Given the description of an element on the screen output the (x, y) to click on. 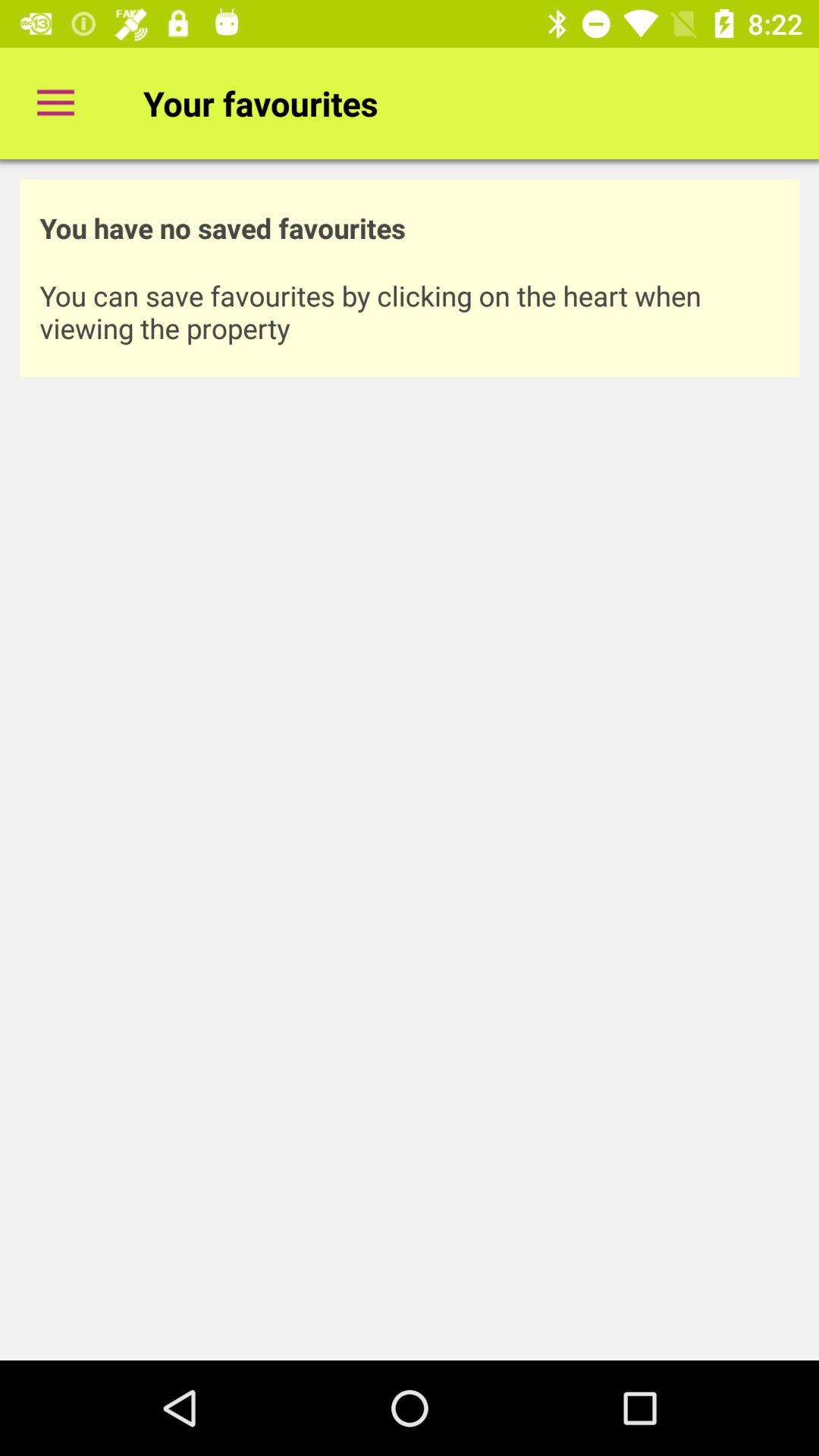
turn on item next to the your favourites item (55, 103)
